Given the description of an element on the screen output the (x, y) to click on. 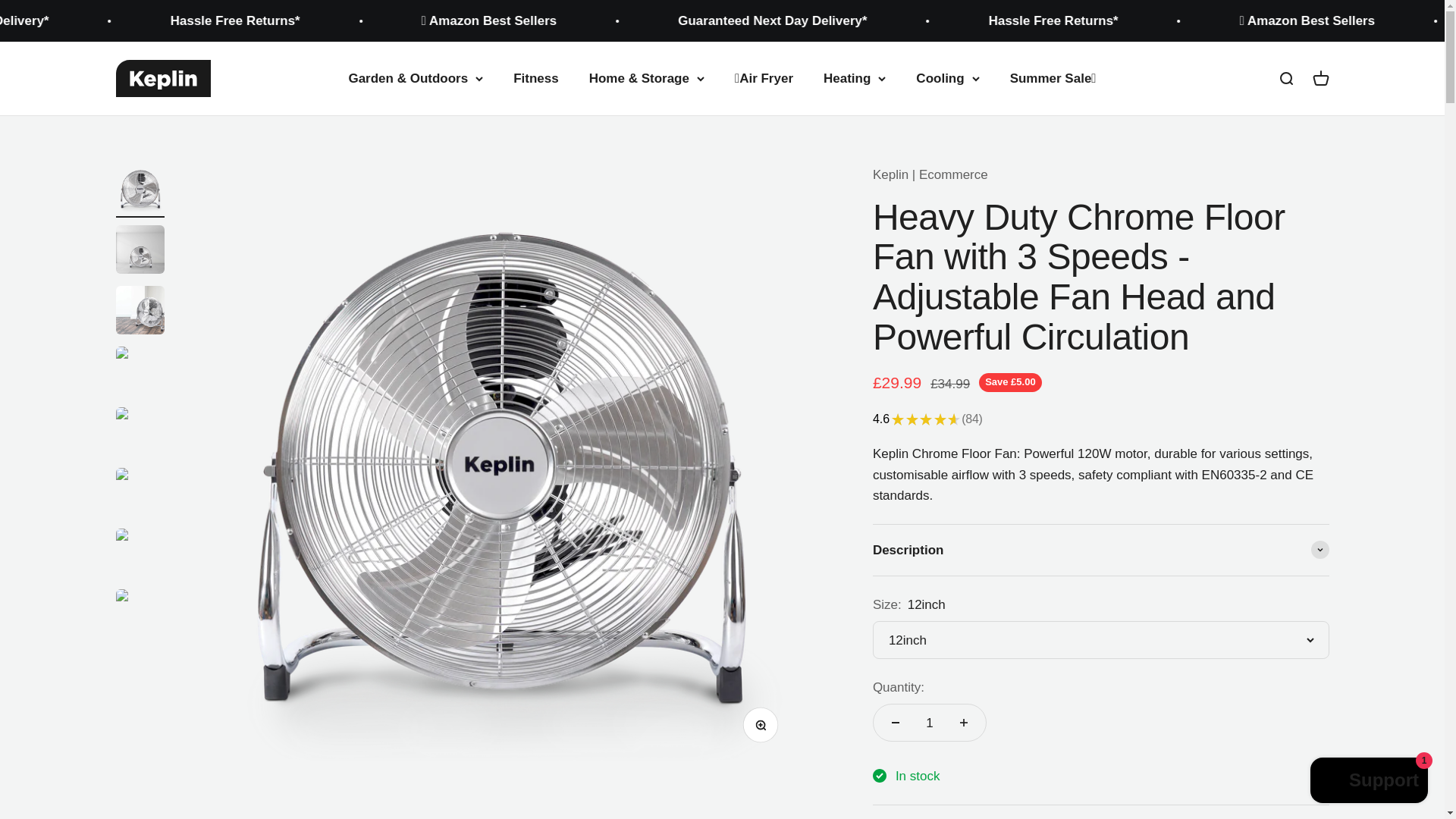
Fitness (536, 78)
Shopify online store chat (1369, 781)
